Given the description of an element on the screen output the (x, y) to click on. 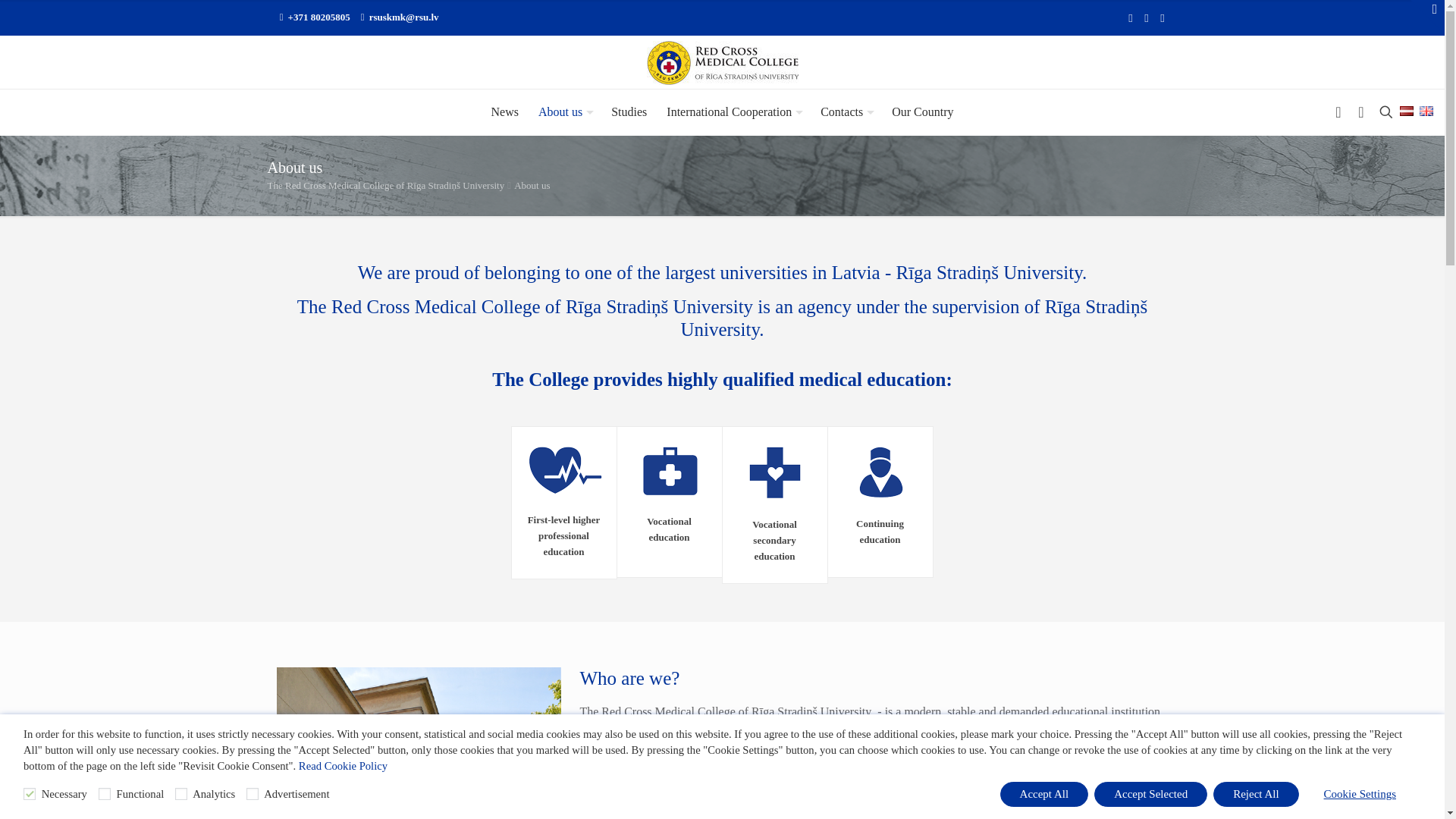
Our Country (922, 112)
on (252, 793)
About us (564, 112)
International Cooperation (733, 112)
Studies (628, 112)
Contacts (846, 112)
on (180, 793)
Facebook (1131, 18)
YouTube (1145, 18)
on (104, 793)
